Given the description of an element on the screen output the (x, y) to click on. 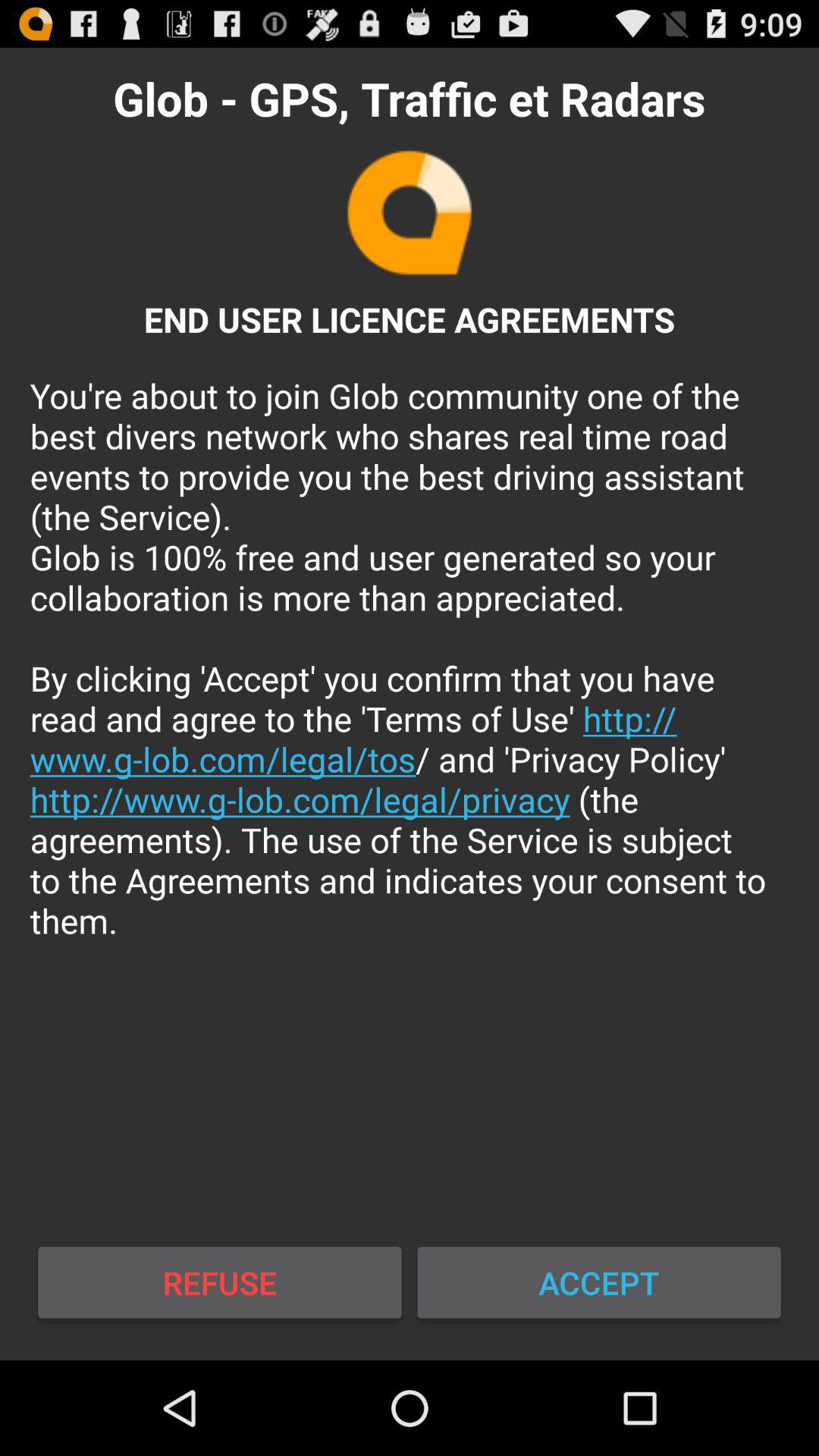
launch the item below you re about item (219, 1282)
